Given the description of an element on the screen output the (x, y) to click on. 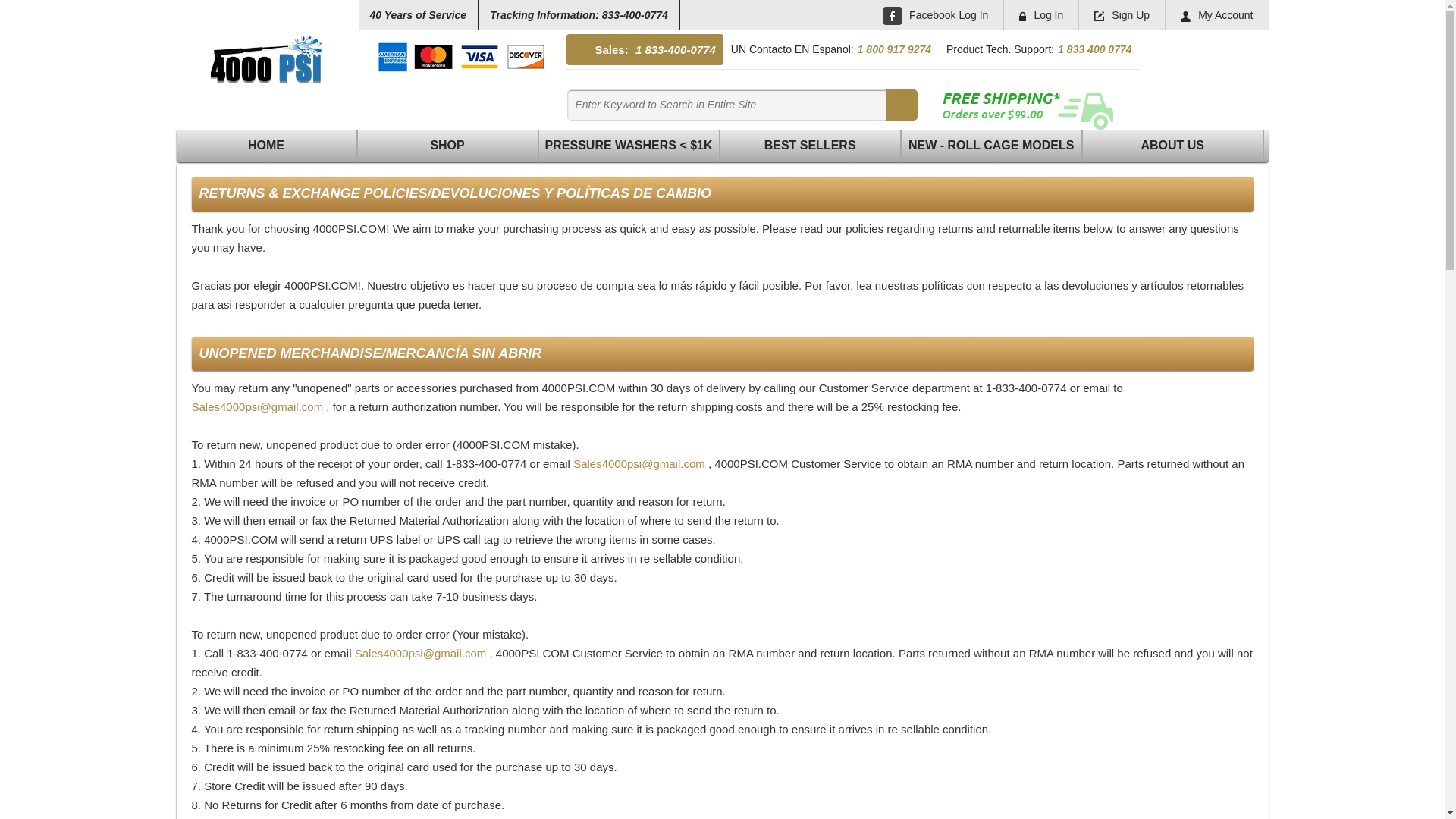
Facebook Log In Element type: text (935, 15)
FREE SHIPPING - No Sales Tax - Except Florida Element type: hover (1026, 109)
Items: 0
Total: $0.00 Element type: text (1203, 75)
ABOUT US Element type: text (1173, 145)
Sales4000psi@gmail.com Element type: text (639, 463)
SHOP Element type: text (448, 145)
Log In Element type: text (1041, 15)
Sign Up Element type: text (1121, 15)
Sign Up Element type: hover (1099, 16)
NEW - ROLL CAGE MODELS Element type: text (991, 145)
Sales4000psi@gmail.com Element type: text (420, 652)
Search Element type: hover (729, 104)
Items: 0
Total: $0.00 Element type: text (1203, 67)
BEST SELLERS Element type: text (810, 145)
PRESSURE WASHERS < $1K Element type: text (629, 145)
replacementpumps.com Element type: hover (266, 60)
Log-In/Log-Out Element type: hover (1022, 16)
Facebook Log In Element type: hover (892, 15)
Sales4000psi@gmail.com Element type: text (257, 406)
HOME Element type: text (266, 145)
My Account Element type: text (1216, 15)
My Account Element type: hover (1185, 15)
